Given the description of an element on the screen output the (x, y) to click on. 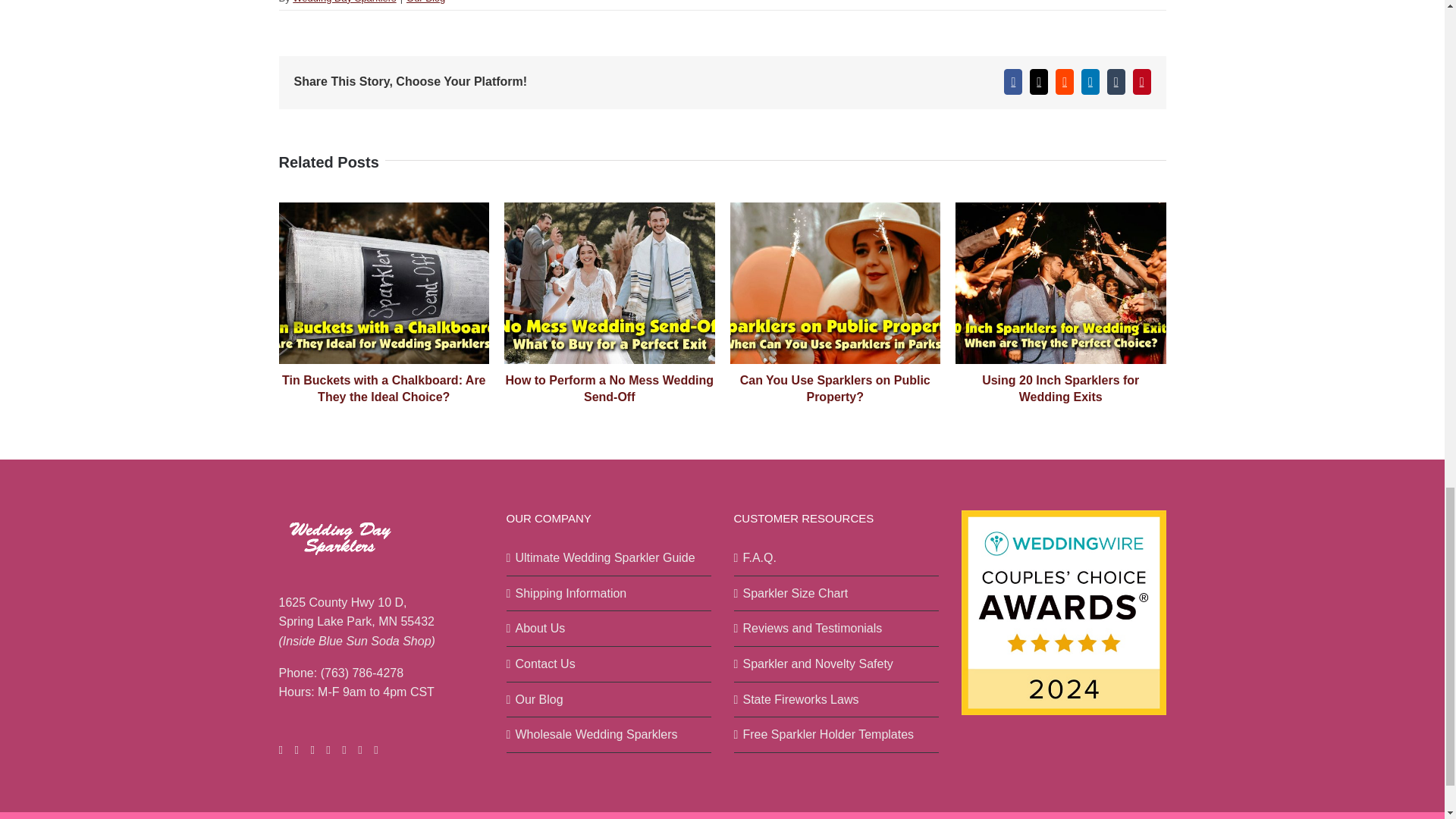
Wedding Day Sparklers (344, 1)
Our Blog (425, 1)
Posts by Wedding Day Sparklers (344, 1)
Tin Buckets with a Chalkboard: Are They the Ideal Choice? (384, 388)
How to Perform a No Mess Wedding Send-Off (609, 388)
